Given the description of an element on the screen output the (x, y) to click on. 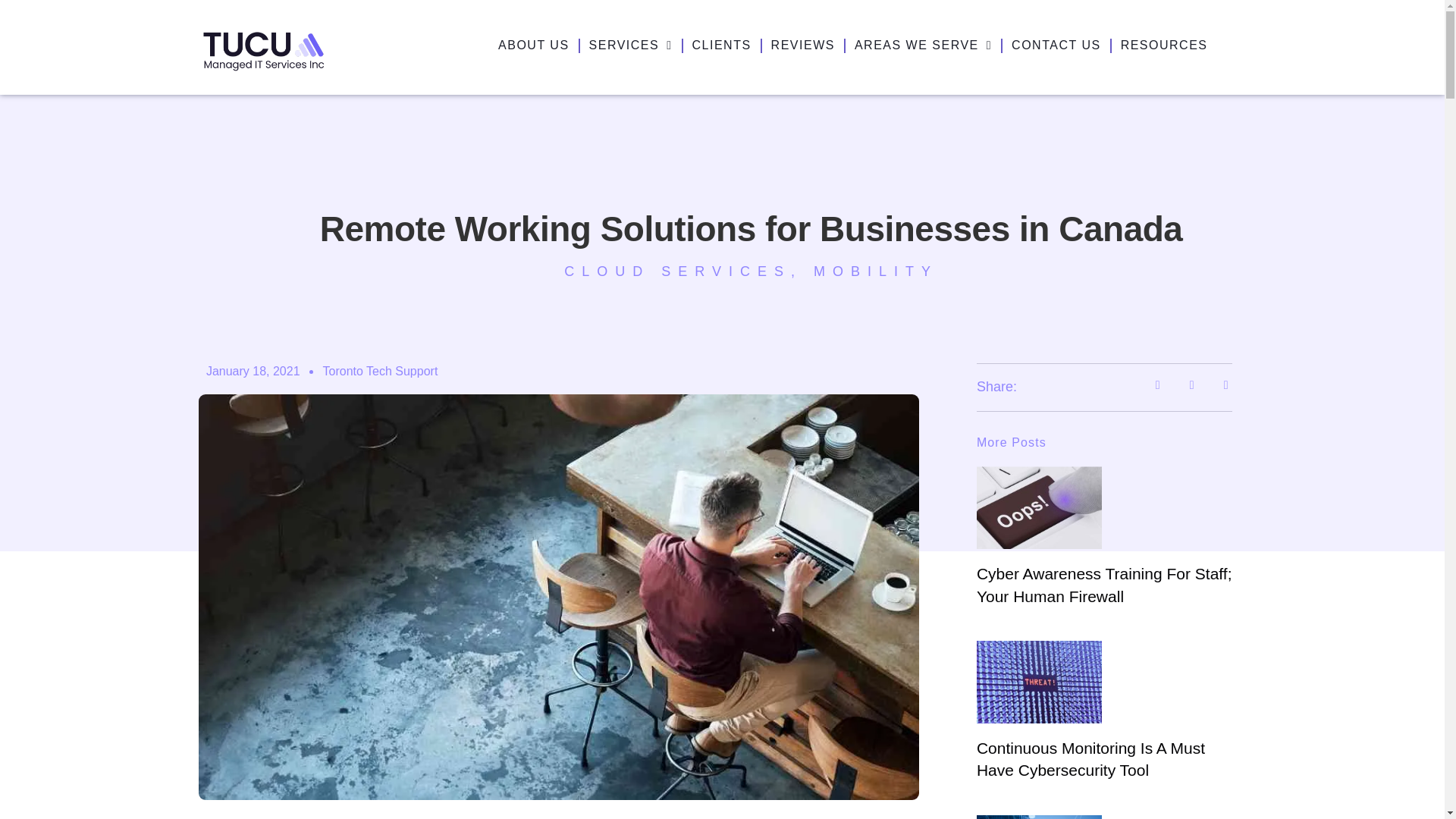
ABOUT US (533, 45)
CONTACT US (1056, 45)
IT Support Services (631, 45)
SERVICES (631, 45)
Our IT Support Company Reviews (803, 45)
CLIENTS (721, 45)
REVIEWS (803, 45)
AREAS WE SERVE (922, 45)
Who We Work With (721, 45)
About Us (533, 45)
